Given the description of an element on the screen output the (x, y) to click on. 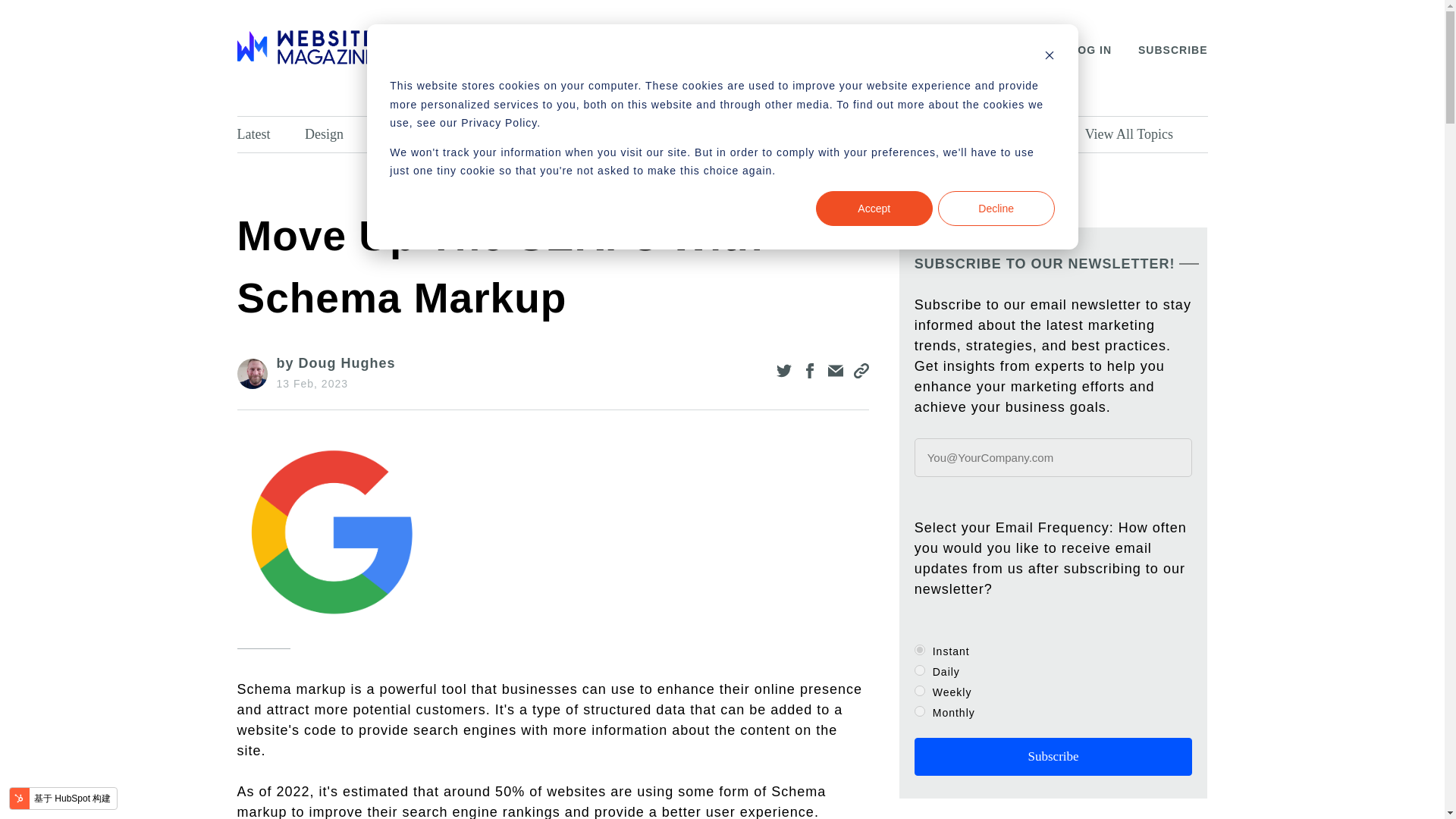
Advertising (861, 134)
Email (944, 134)
Development (428, 134)
Website Magazine Logo (303, 47)
monthly (919, 710)
by Doug Hughes (335, 362)
LOG IN (1091, 50)
Content (681, 134)
ABOUT (449, 50)
weekly (919, 690)
